Given the description of an element on the screen output the (x, y) to click on. 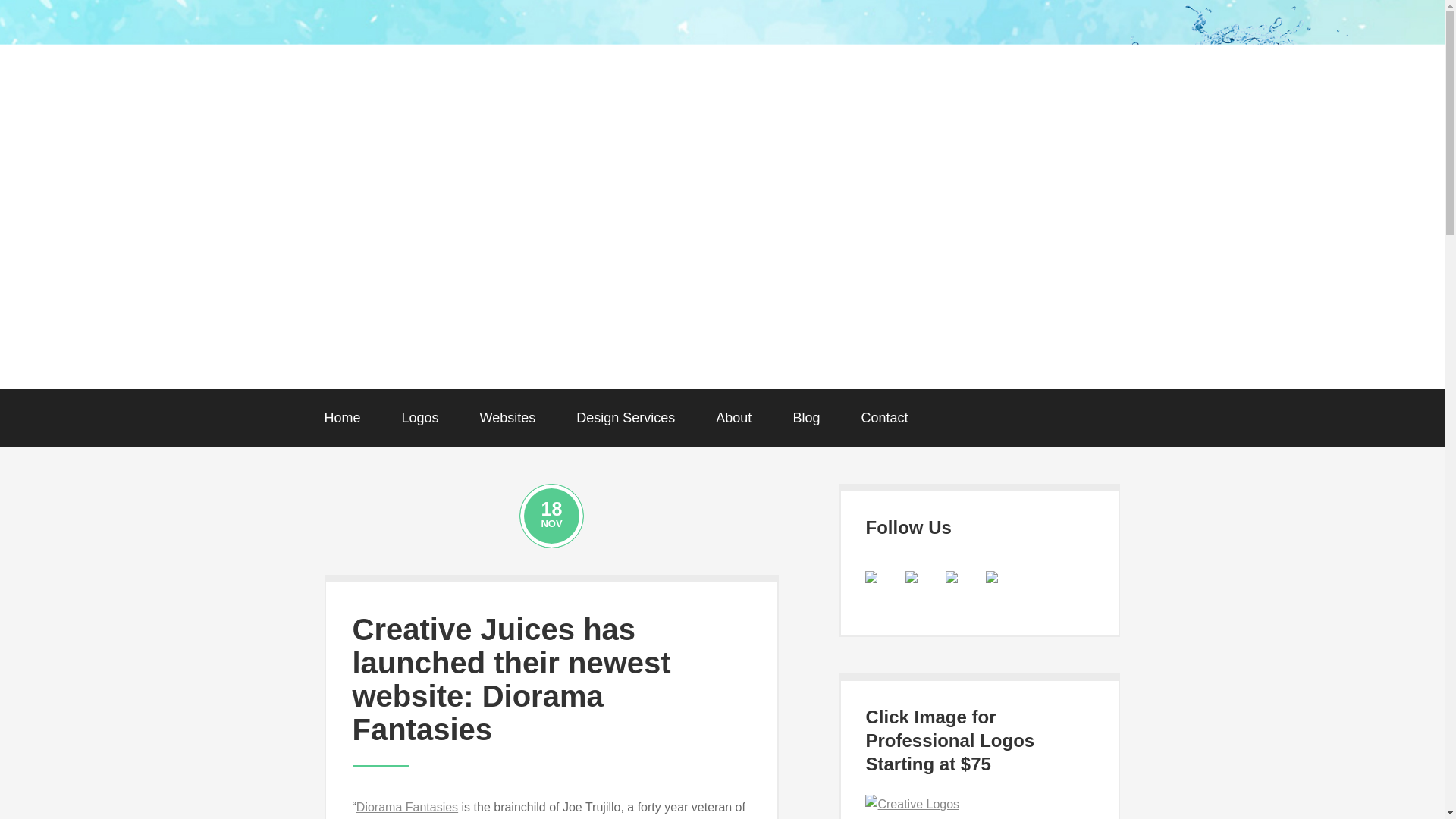
Follow us on Facebook (882, 588)
Diorama Fantasies (407, 807)
Logos (420, 418)
Follow us on Facebook (870, 576)
Blog (805, 418)
Websites (507, 418)
Our board on Pinterest (962, 588)
Follow us on Twitter (911, 576)
Find us on Linkedin (1003, 588)
Design Services (625, 418)
